Given the description of an element on the screen output the (x, y) to click on. 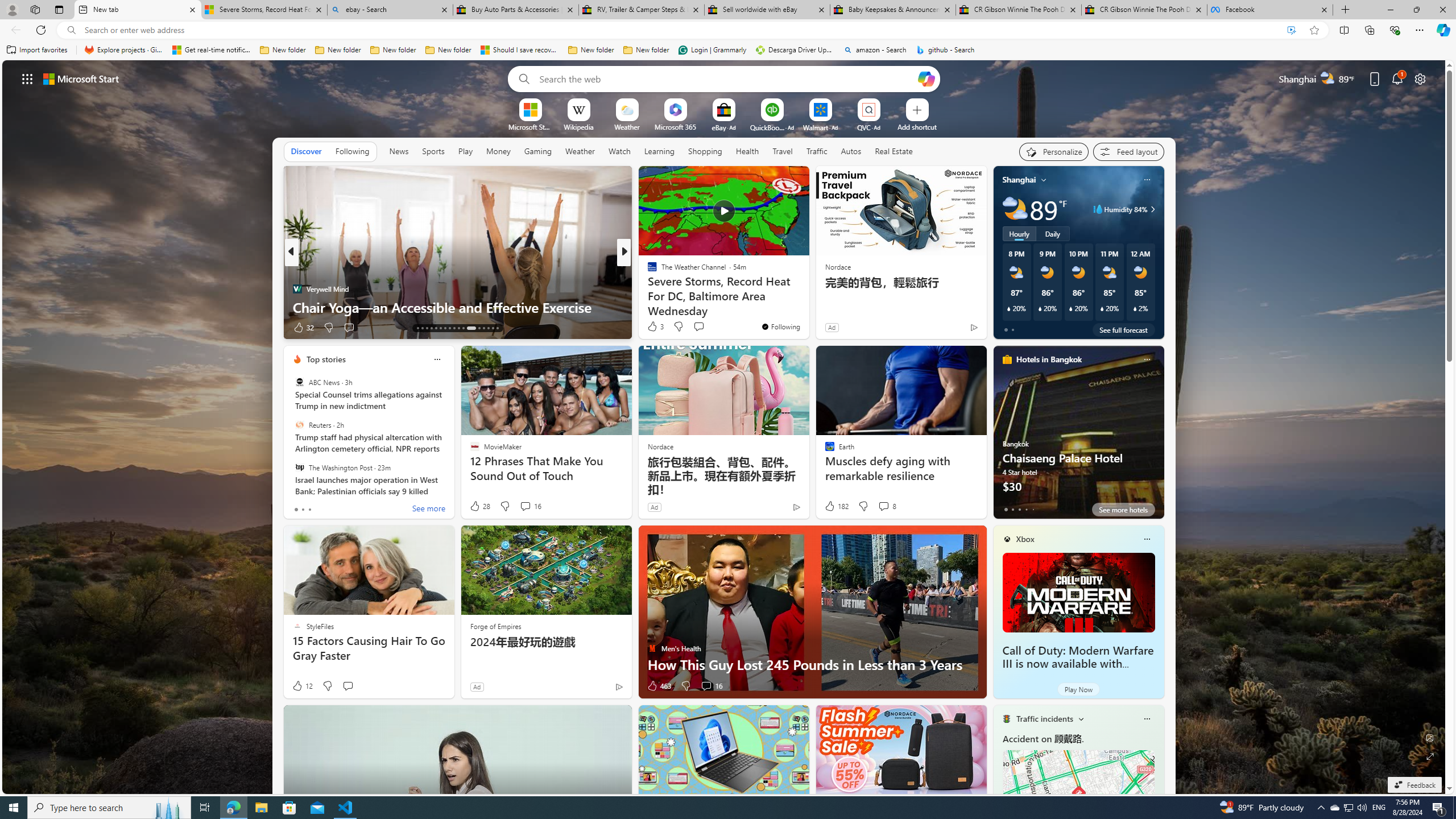
Favorites bar (728, 49)
AutomationID: tab-18 (440, 328)
Real Estate (893, 151)
AutomationID: tab-20 (449, 328)
Chaisaeng Palace Hotel (1078, 436)
Add a site (916, 126)
463 Like (658, 685)
Verywell Mind (296, 288)
Gaming (537, 151)
Gaming (537, 151)
View comments 8 Comment (883, 505)
